Given the description of an element on the screen output the (x, y) to click on. 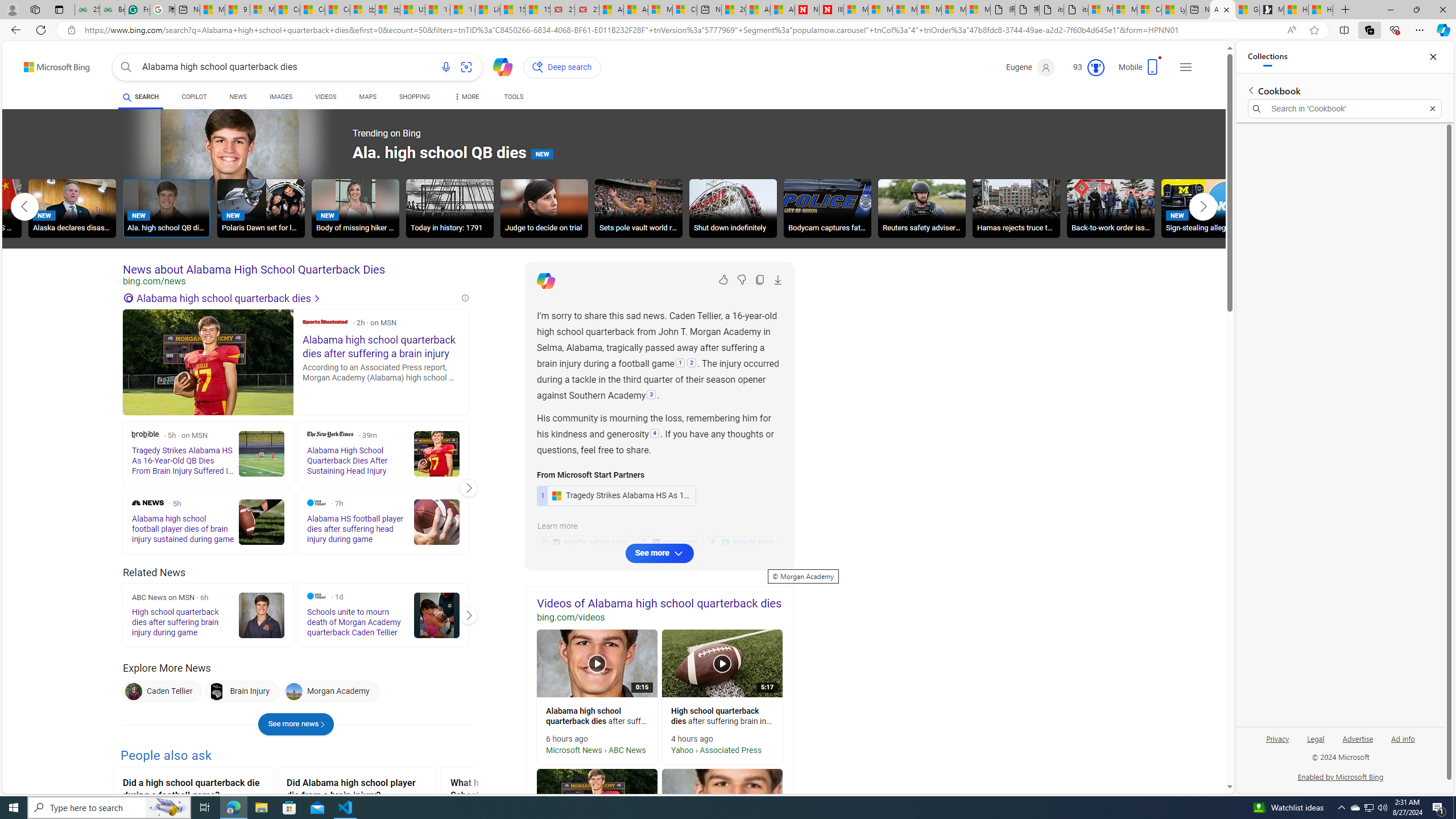
How to Use a TV as a Computer Monitor (1320, 9)
Consumer Health Data Privacy Policy (1149, 9)
TOOLS (512, 96)
Shut down indefinitely (732, 209)
Morgan Academy Morgan Academy (330, 691)
Back to Bing search (50, 64)
